Given the description of an element on the screen output the (x, y) to click on. 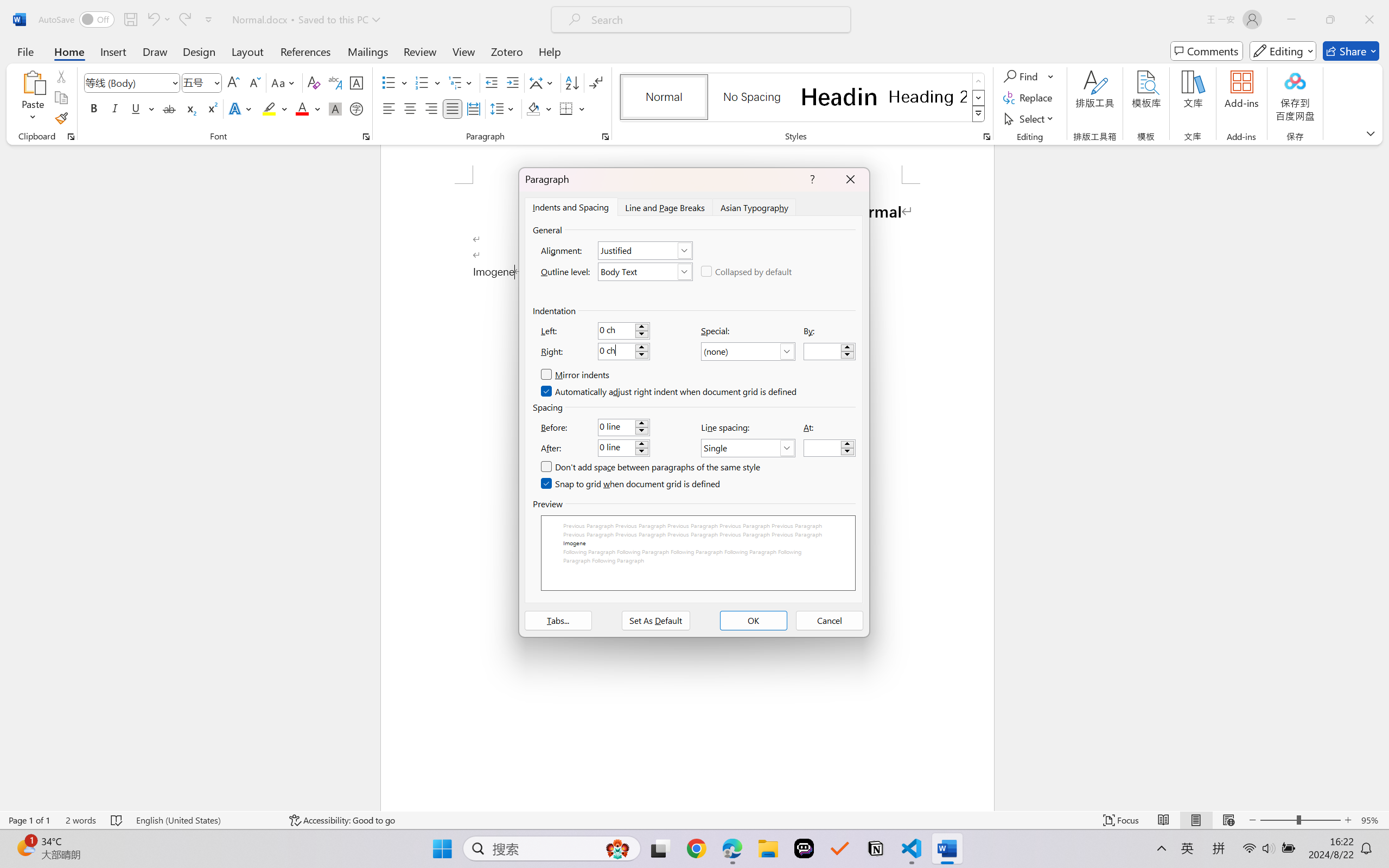
Zoom 95% (1372, 819)
Line spacing: (748, 448)
By: (829, 351)
Shading RGB(0, 0, 0) (533, 108)
Subscript (190, 108)
Select (1030, 118)
